Given the description of an element on the screen output the (x, y) to click on. 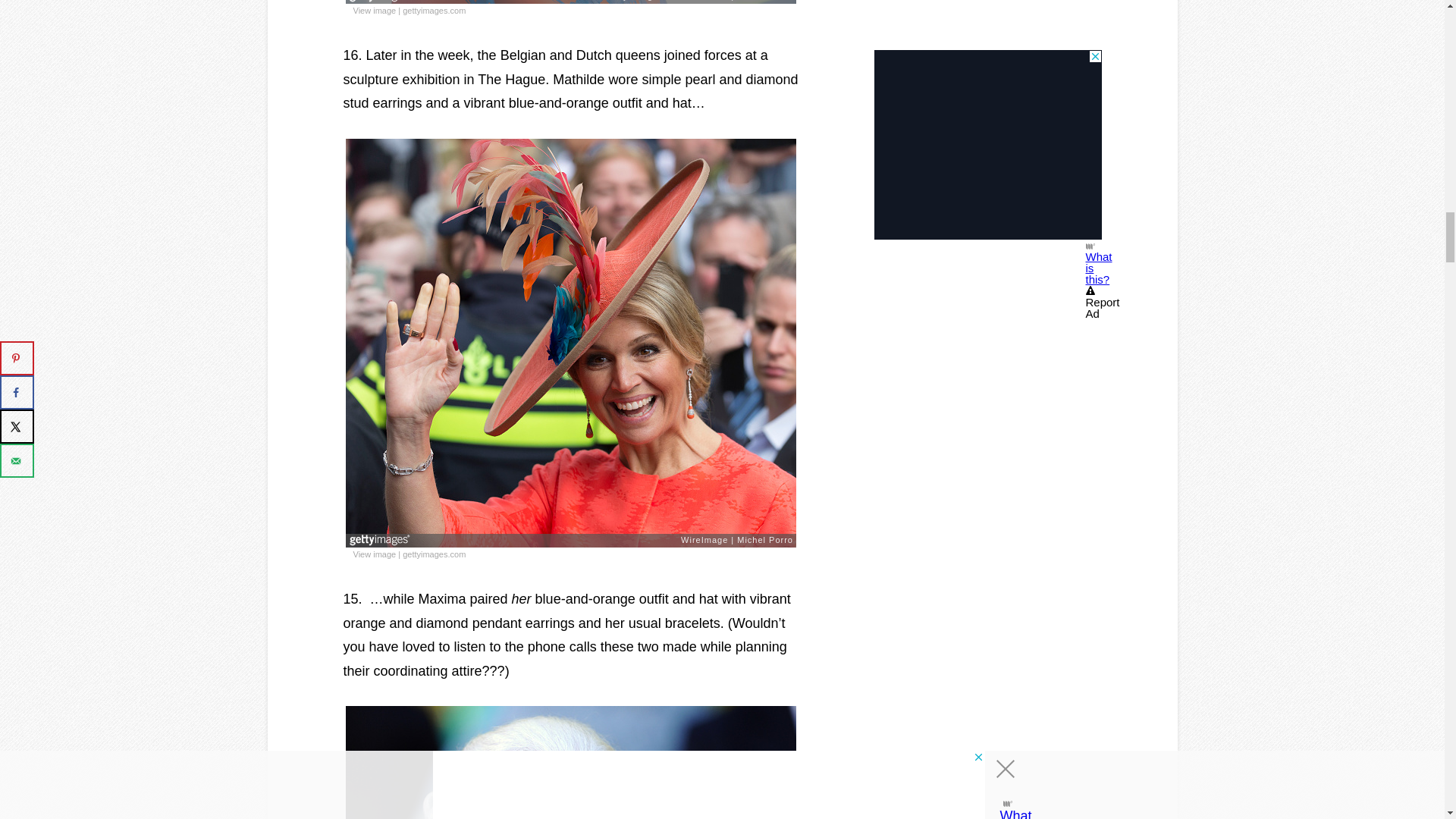
gettyimages.com (434, 554)
View image (374, 10)
gettyimages.com (434, 10)
View image (374, 554)
